Given the description of an element on the screen output the (x, y) to click on. 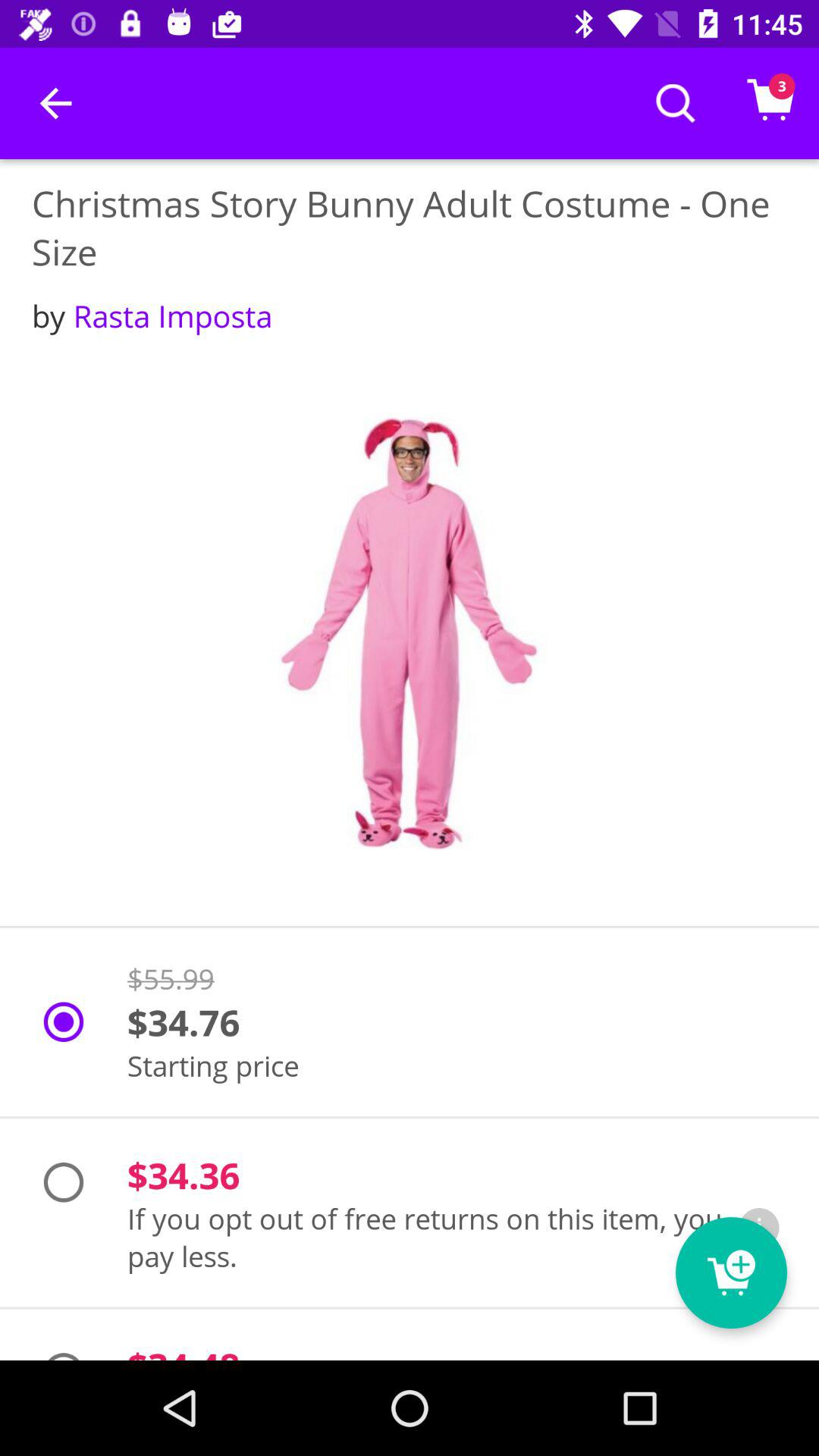
go to shopping cart (731, 1272)
